Given the description of an element on the screen output the (x, y) to click on. 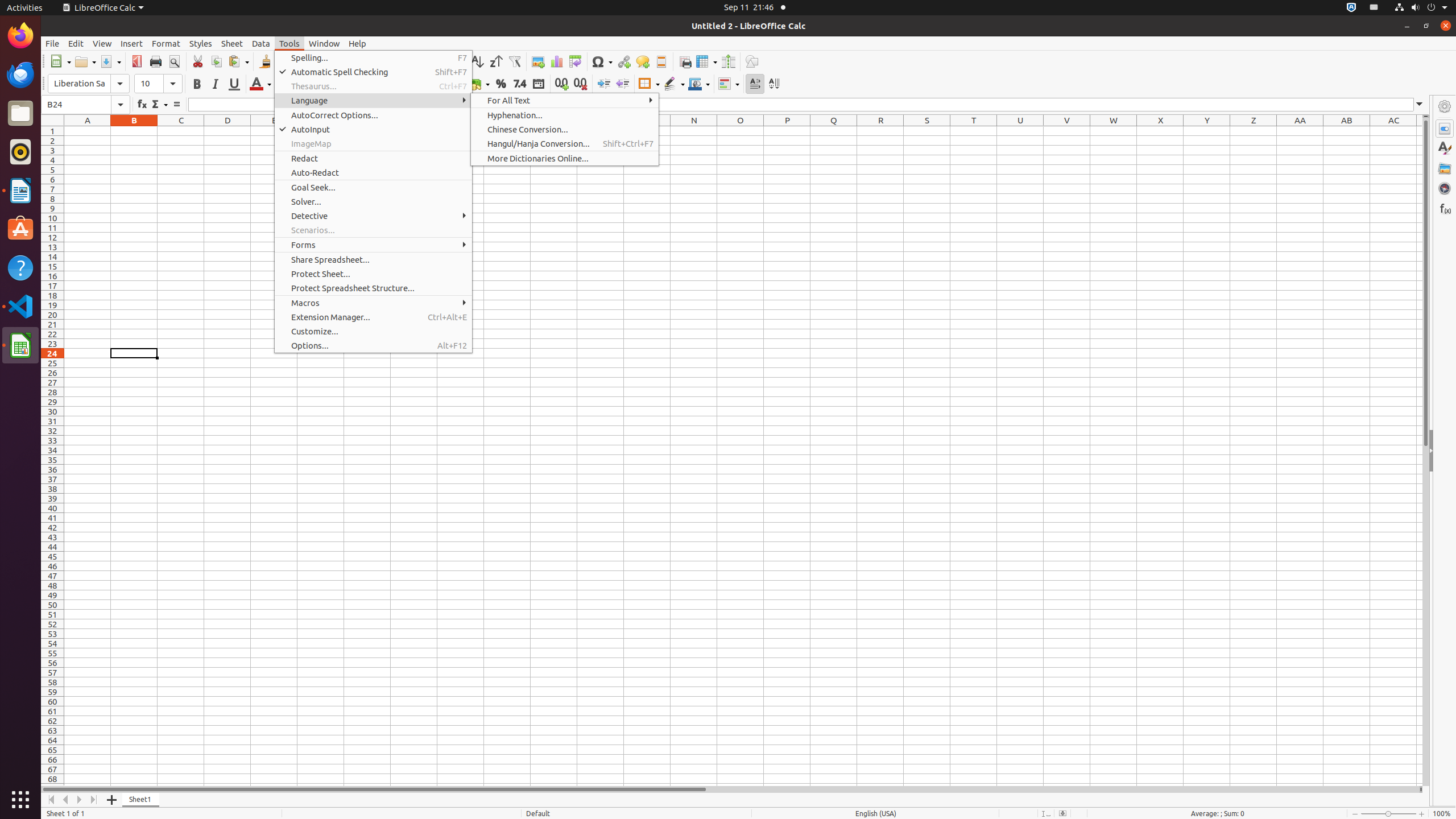
R1 Element type: table-cell (880, 130)
D1 Element type: table-cell (227, 130)
Border Color Element type: push-button (698, 83)
C1 Element type: table-cell (180, 130)
